Given the description of an element on the screen output the (x, y) to click on. 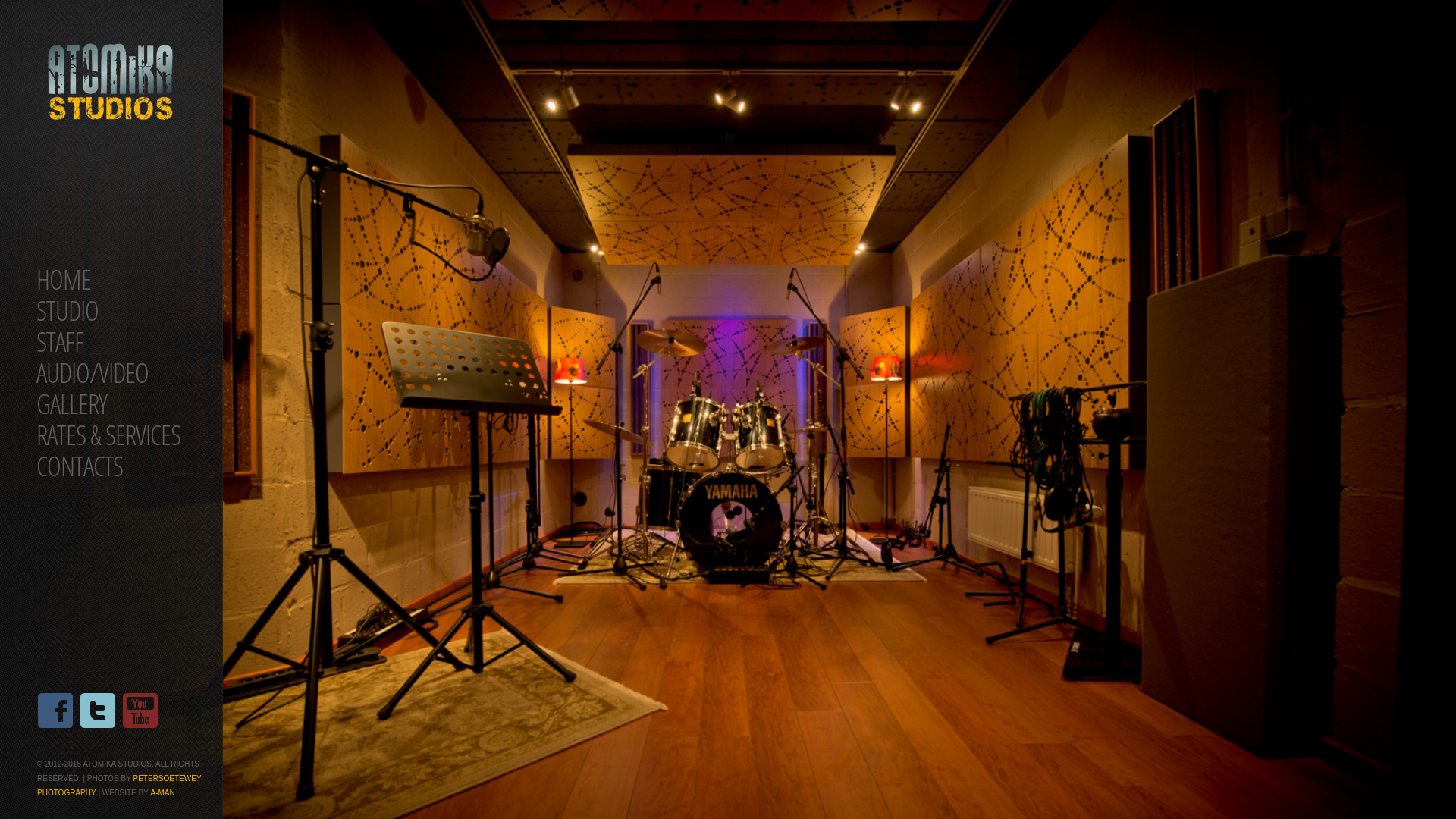
GALLERY Element type: text (71, 403)
PETERSOETEWEY PHOTOGRAPHY Element type: text (118, 785)
STAFF Element type: text (59, 341)
RATES & SERVICES Element type: text (108, 434)
HOME Element type: text (63, 278)
AUDIO/VIDEO Element type: text (92, 372)
STUDIO Element type: text (67, 310)
CONTACTS Element type: text (79, 465)
ATOMIKA STUDIOS - FULL SERVICE RECORDING STUDIO Element type: text (110, 81)
A-MAN Element type: text (162, 792)
